Given the description of an element on the screen output the (x, y) to click on. 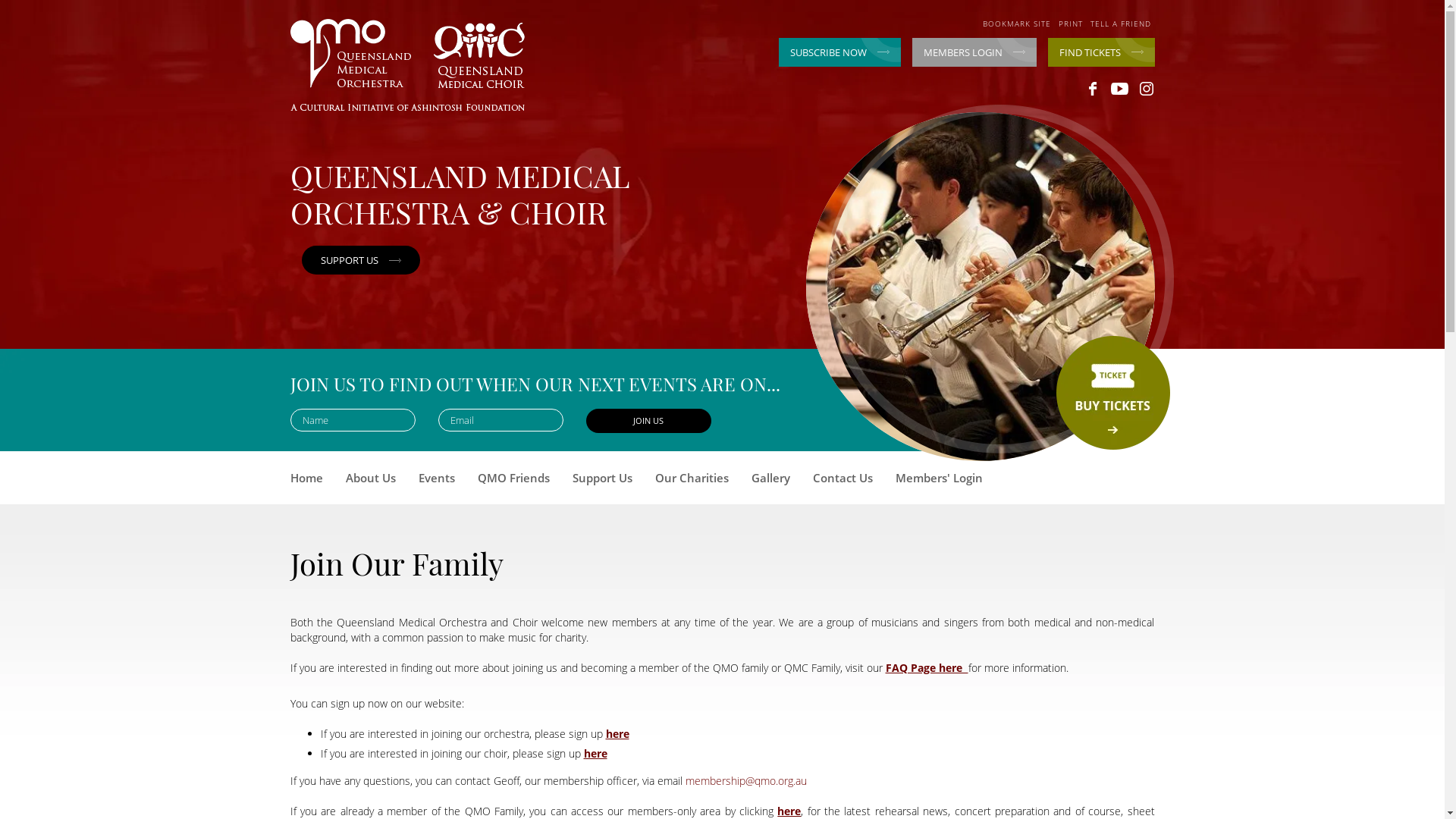
TELL A FRIEND Element type: text (1120, 23)
Support Us Element type: text (601, 483)
Our Charities Element type: text (691, 483)
FAQ Page here   Element type: text (926, 667)
Home Element type: text (305, 483)
instagram Element type: text (1145, 88)
SUPPORT US Element type: text (360, 259)
PRINT Element type: text (1070, 23)
MEMBERS LOGIN Element type: text (973, 51)
here Element type: text (616, 733)
here Element type: text (788, 810)
Join Us Element type: text (647, 420)
membership@qmo.org.au Element type: text (745, 780)
here Element type: text (595, 753)
SUBSCRIBE NOW Element type: text (839, 51)
Gallery Element type: text (769, 483)
Events Element type: text (436, 483)
Members' Login Element type: text (938, 483)
Contact Us Element type: text (842, 483)
FIND TICKETS Element type: text (1101, 51)
BOOKMARK SITE Element type: text (1016, 23)
About Us Element type: text (370, 483)
youtube Element type: text (1118, 88)
QMO Friends Element type: text (513, 483)
facebook Element type: text (1092, 88)
